Given the description of an element on the screen output the (x, y) to click on. 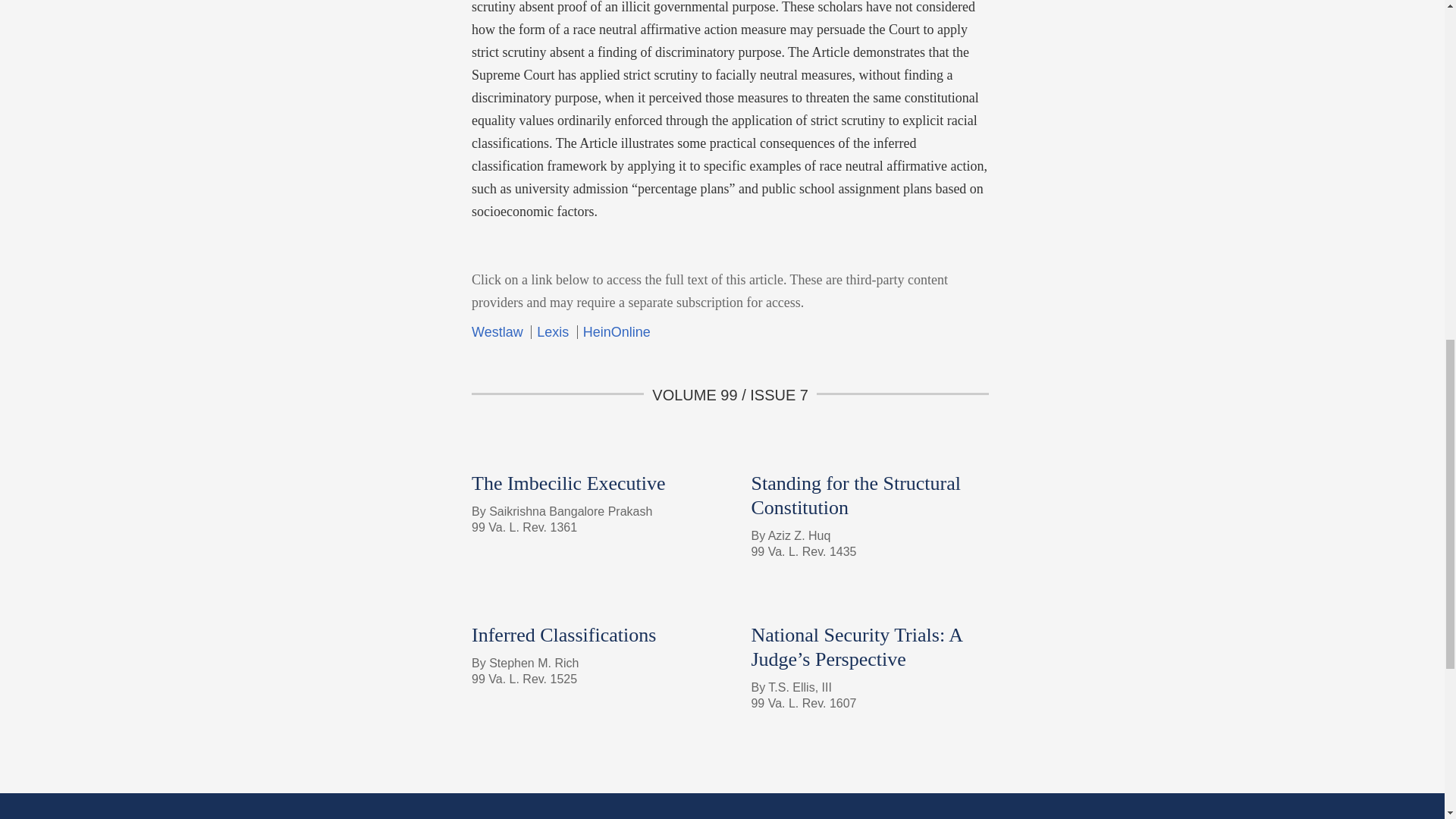
Lexis (552, 332)
HeinOnline (615, 332)
The Imbecilic Executive (568, 483)
Standing for the Structural Constitution (855, 495)
Inferred Classifications (563, 635)
Westlaw (499, 332)
